Given the description of an element on the screen output the (x, y) to click on. 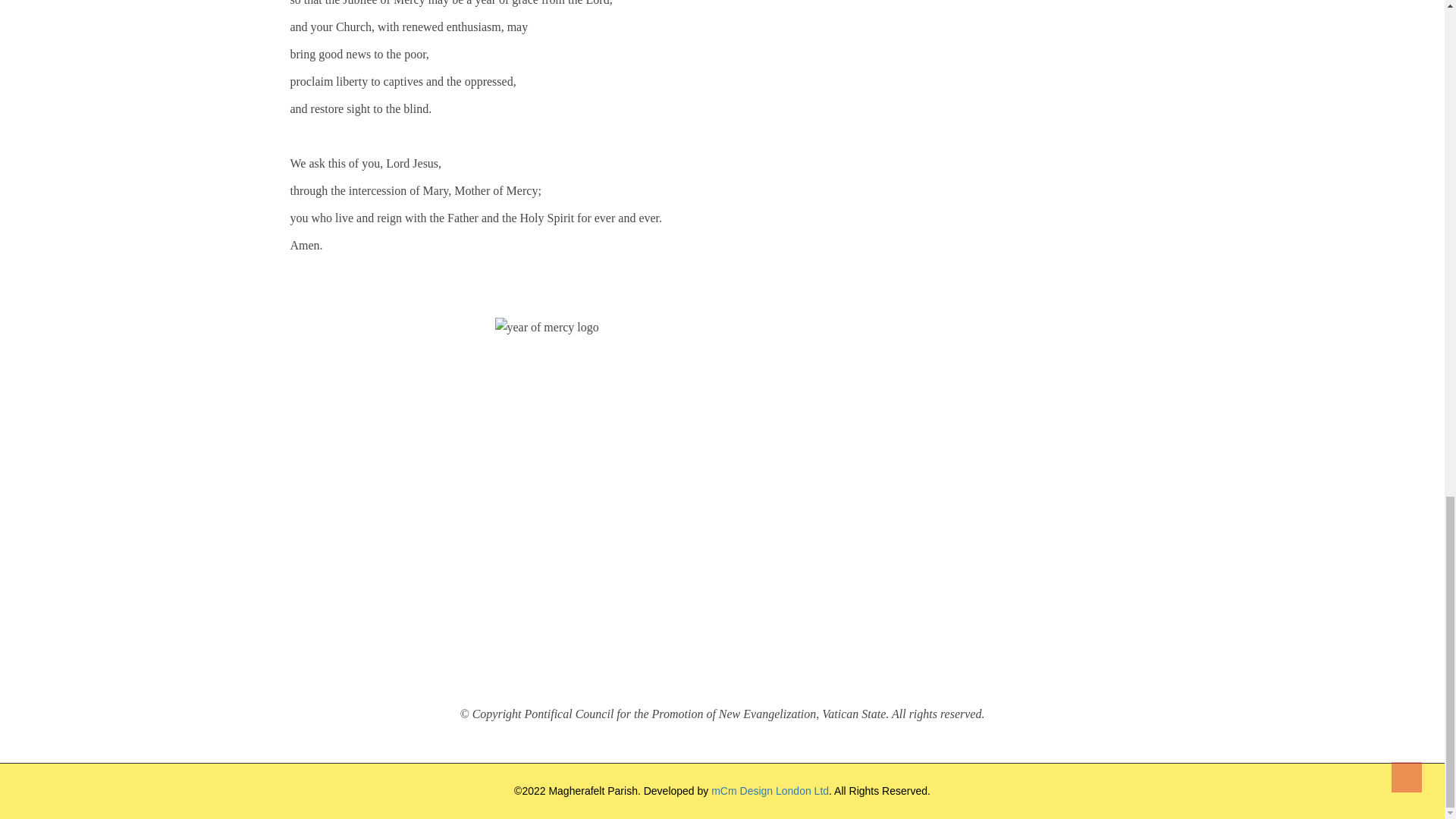
mCm Design London Ltd (769, 790)
